Given the description of an element on the screen output the (x, y) to click on. 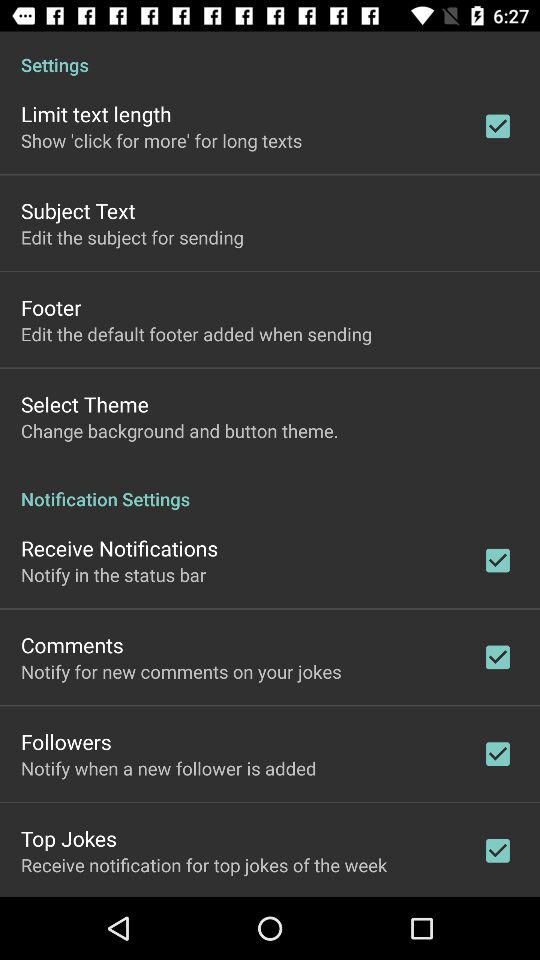
press item above notify in the app (119, 547)
